Given the description of an element on the screen output the (x, y) to click on. 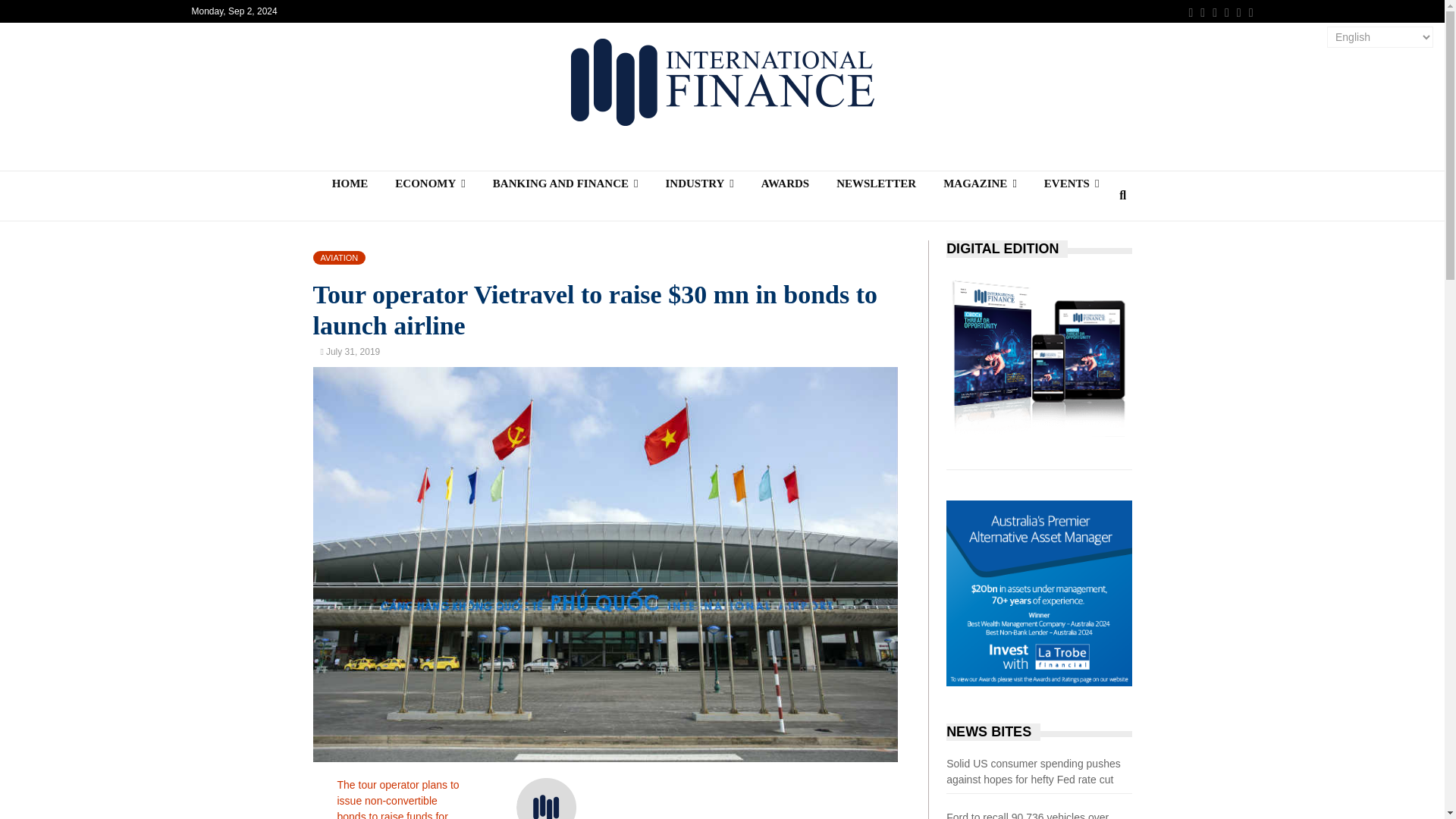
NEWSLETTER (876, 183)
MAGAZINE (980, 183)
INDUSTRY (698, 183)
BANKING AND FINANCE (565, 183)
ECONOMY (430, 183)
AWARDS (785, 183)
HOME (349, 183)
